Given the description of an element on the screen output the (x, y) to click on. 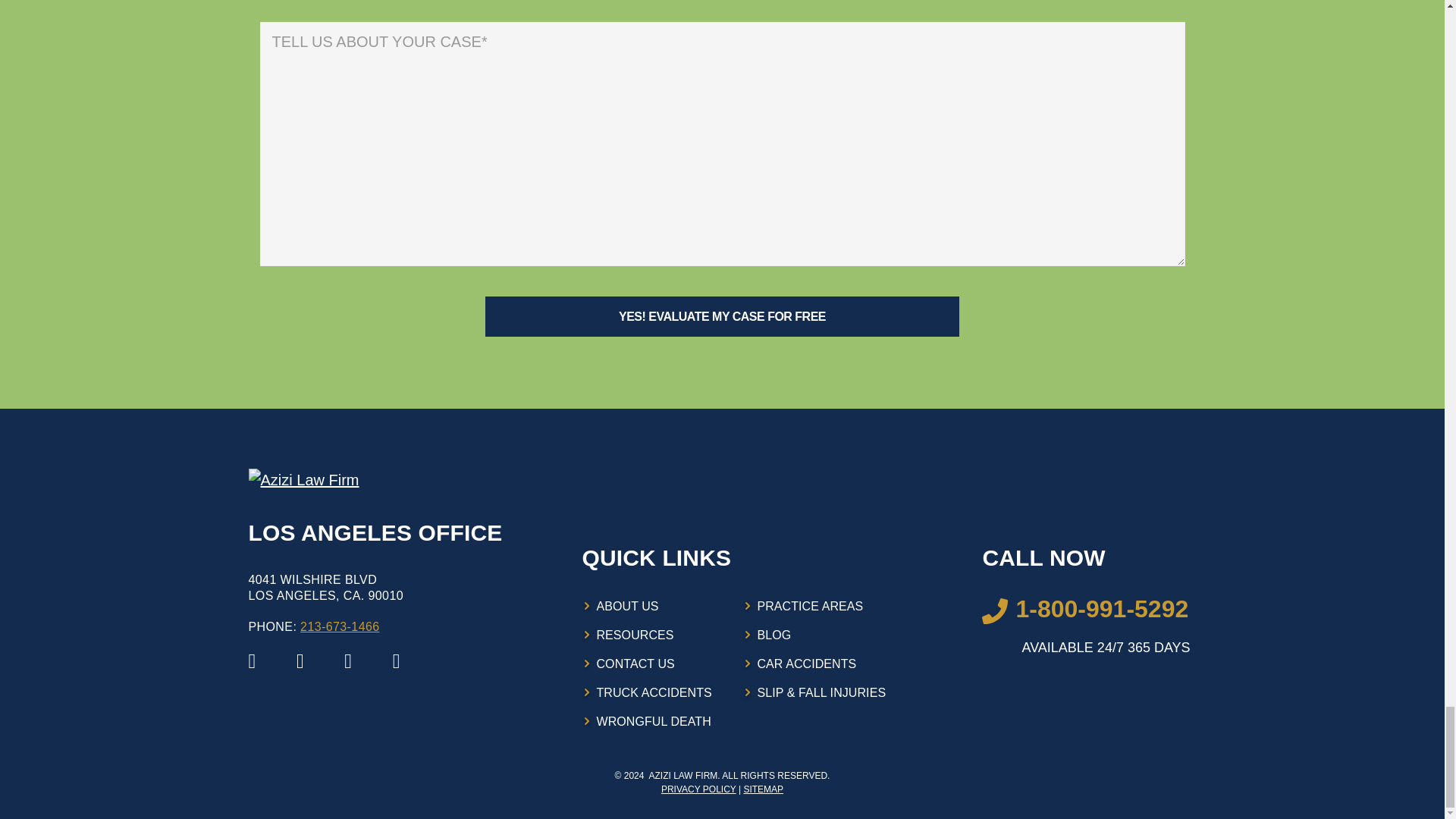
Yes! EVALUATE MY CASE FOR FREE (721, 316)
